Given the description of an element on the screen output the (x, y) to click on. 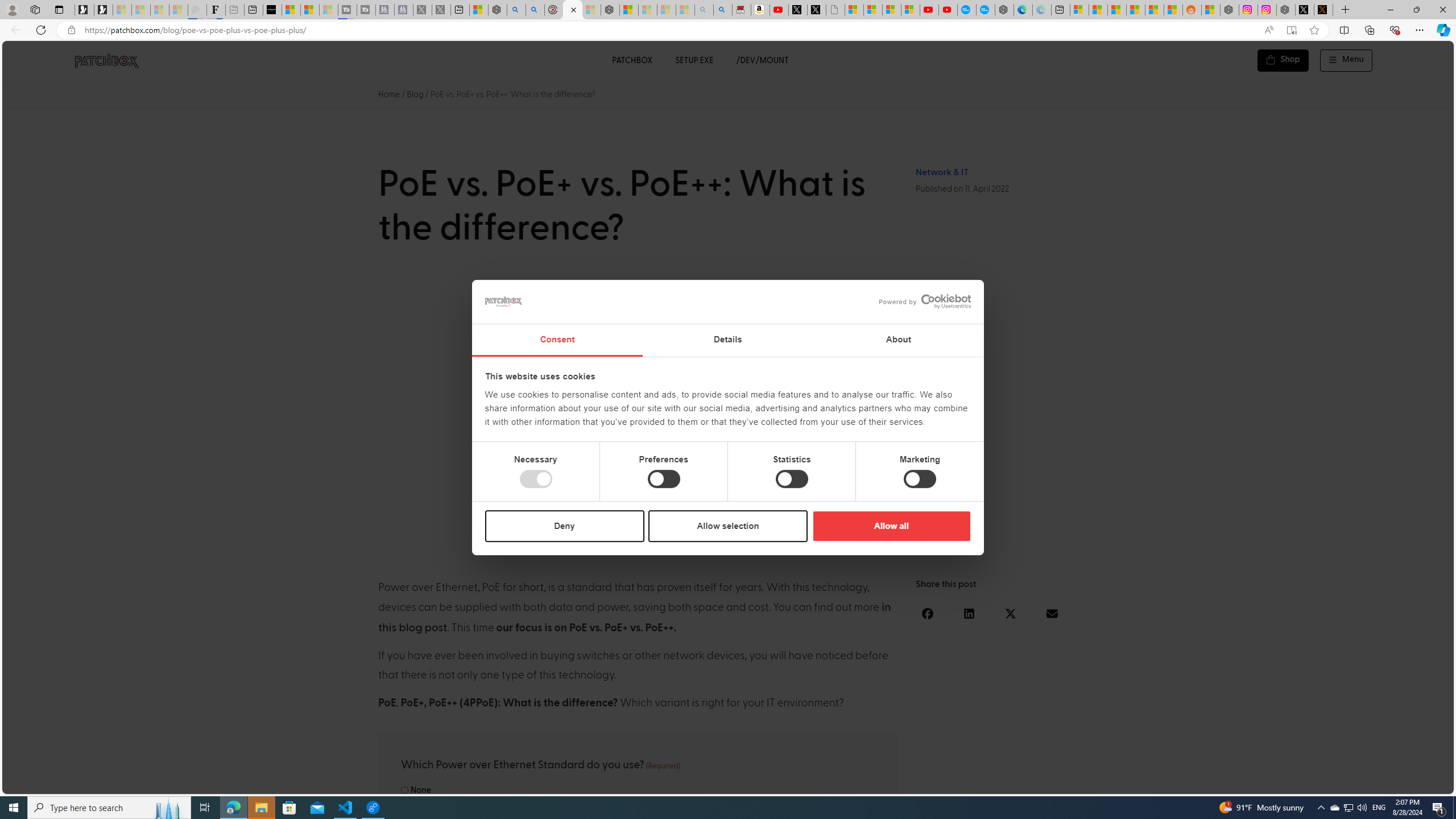
Shop (1282, 60)
Language switcher : Portuguese (1401, 782)
Language switcher : Romanian (1368, 782)
Language switcher : Italian (1265, 782)
PATCHBOX (631, 60)
Language switcher : Polish (1300, 782)
Language switcher : Finnish (1391, 782)
